Given the description of an element on the screen output the (x, y) to click on. 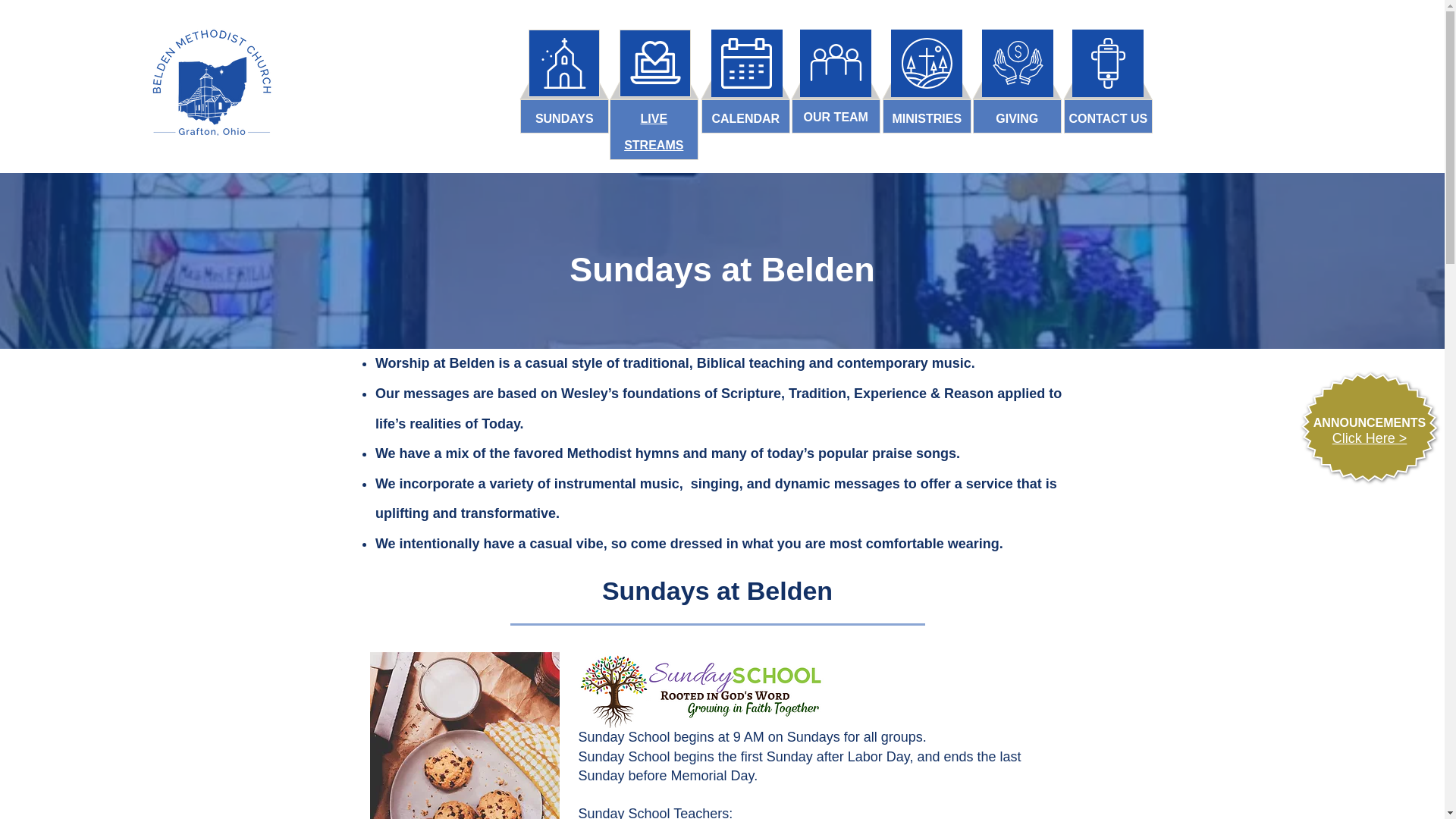
OUR TEAM (835, 116)
SUNDAYS (564, 118)
LIVE STREAMS (653, 131)
GIVING (1016, 118)
CONTACT US (1107, 118)
CALENDAR (744, 118)
MINISTRIES (925, 118)
